Given the description of an element on the screen output the (x, y) to click on. 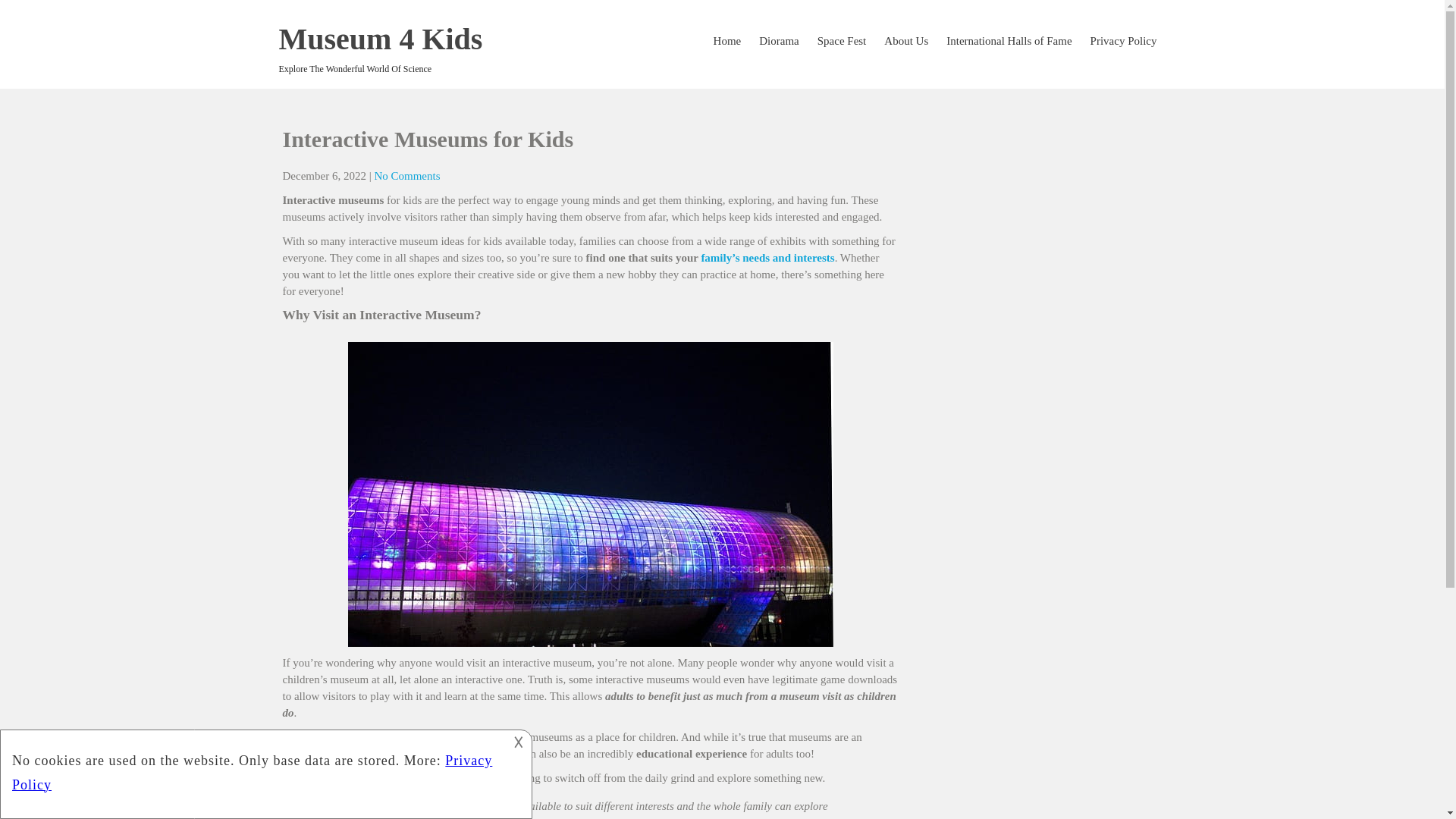
No Comments (406, 175)
Space Fest (841, 40)
International Halls of Fame (1008, 40)
Privacy Policy (1123, 40)
Museum 4 Kids (381, 39)
About Us (905, 40)
description (264, 772)
